Given the description of an element on the screen output the (x, y) to click on. 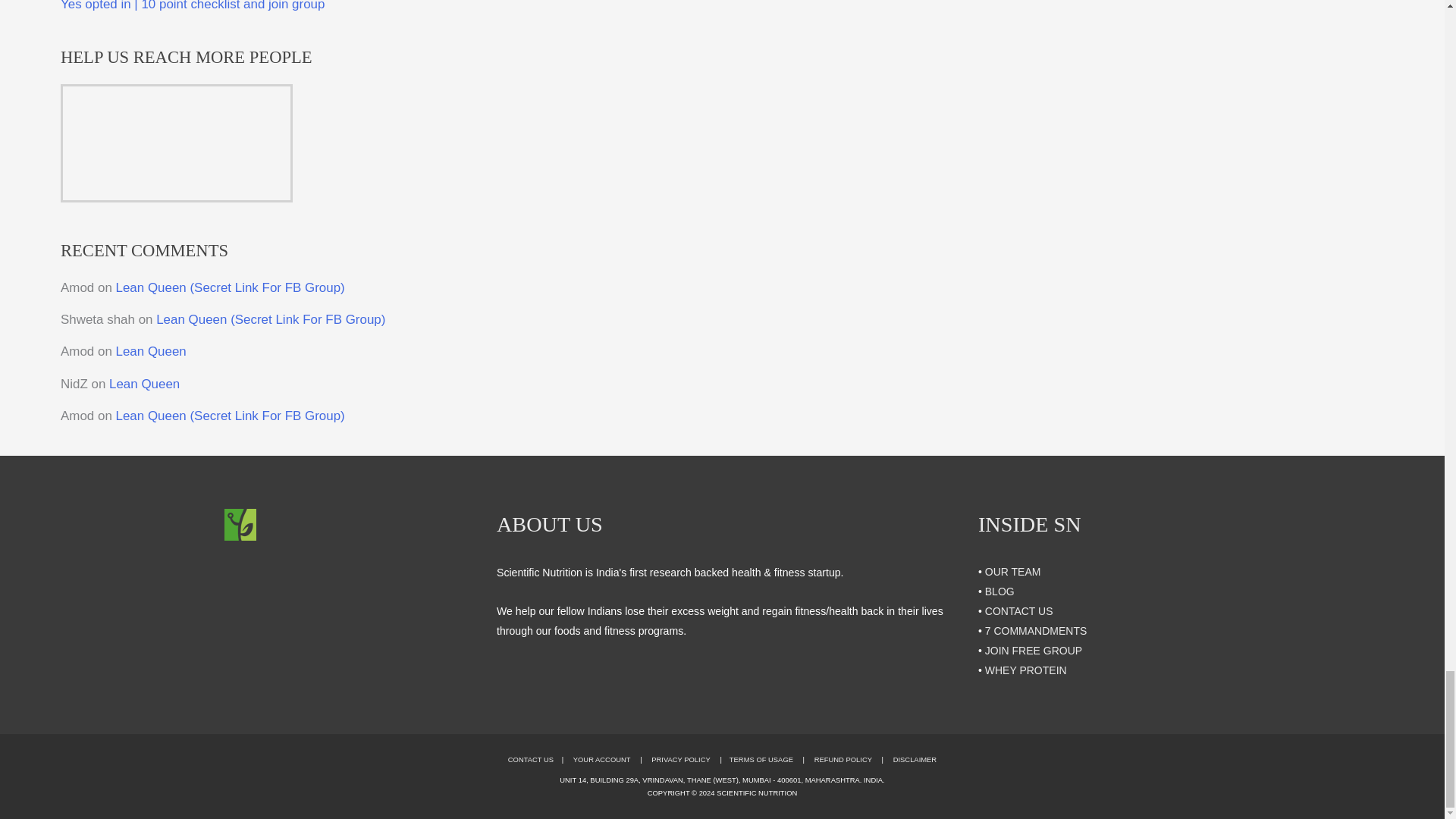
TERMS OF USAGE (761, 759)
Lean Queen (151, 350)
OUR TEAM (1013, 571)
WHEY PROTEIN (1026, 670)
Lean Queen (144, 383)
7 COMMANDMENTS (1036, 630)
REFUND POLICY (842, 759)
YOUR ACCOUNT (601, 759)
BLOG (999, 591)
CONTACT US (530, 759)
